Given the description of an element on the screen output the (x, y) to click on. 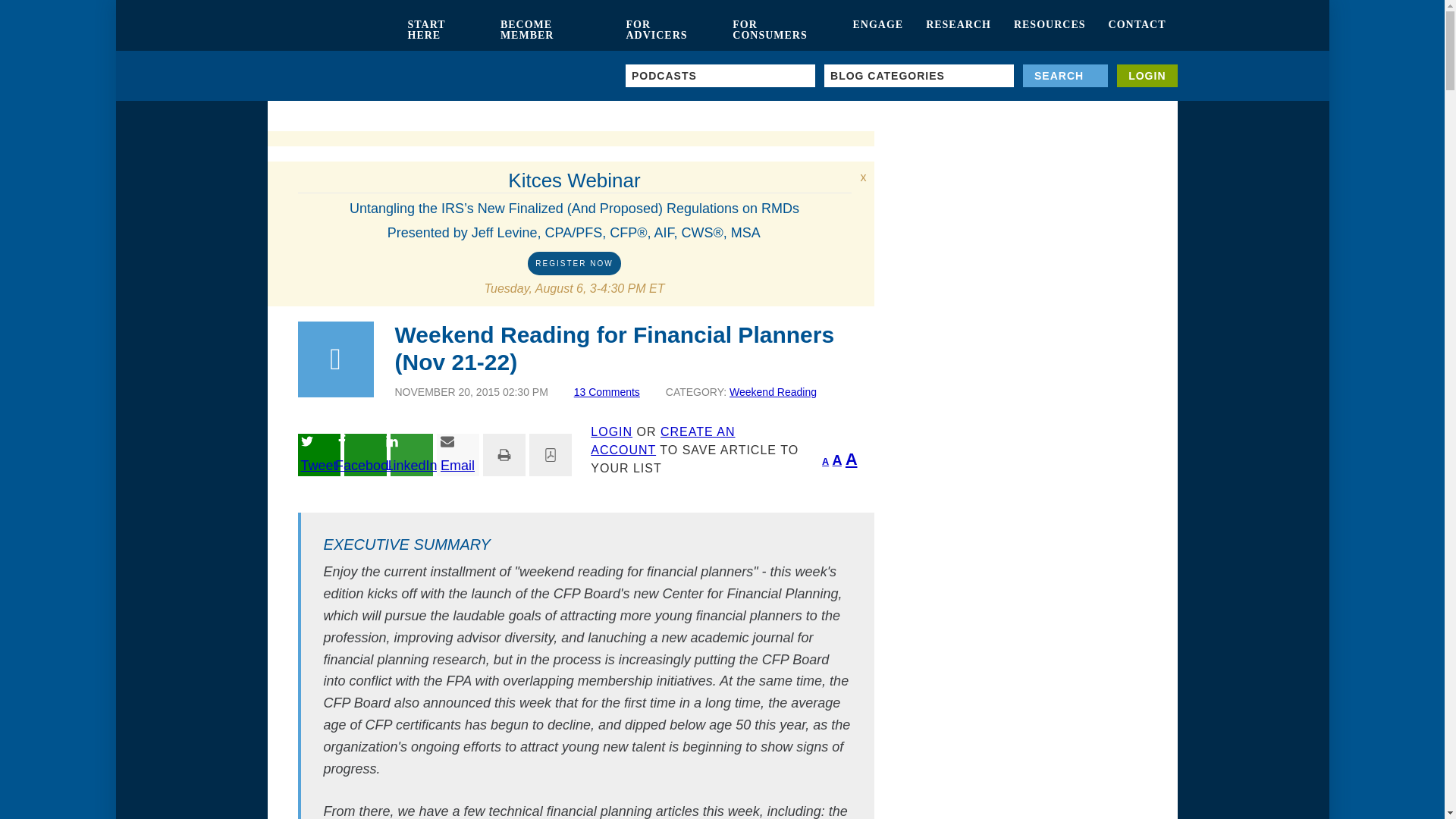
RESEARCH (958, 30)
Share on Facebook (365, 454)
Share on LinkedIn (411, 454)
FOR CONSUMERS (780, 30)
Share via Email (457, 454)
Email (457, 454)
Kitces.com (331, 29)
RESOURCES (1050, 30)
START HERE (441, 30)
ENGAGE (877, 30)
